Given the description of an element on the screen output the (x, y) to click on. 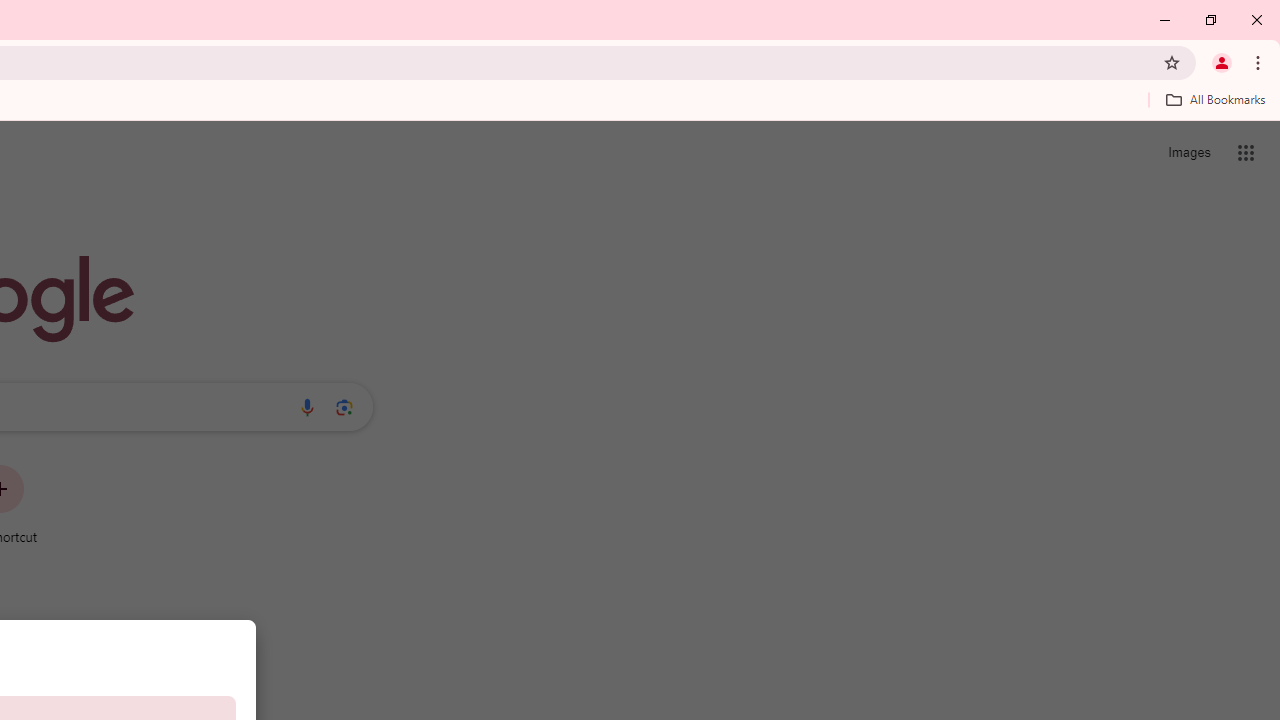
Close (1256, 20)
Chrome (1260, 62)
You (1221, 62)
Minimize (1165, 20)
All Bookmarks (1215, 99)
Restore (1210, 20)
Bookmark this tab (1171, 62)
